Given the description of an element on the screen output the (x, y) to click on. 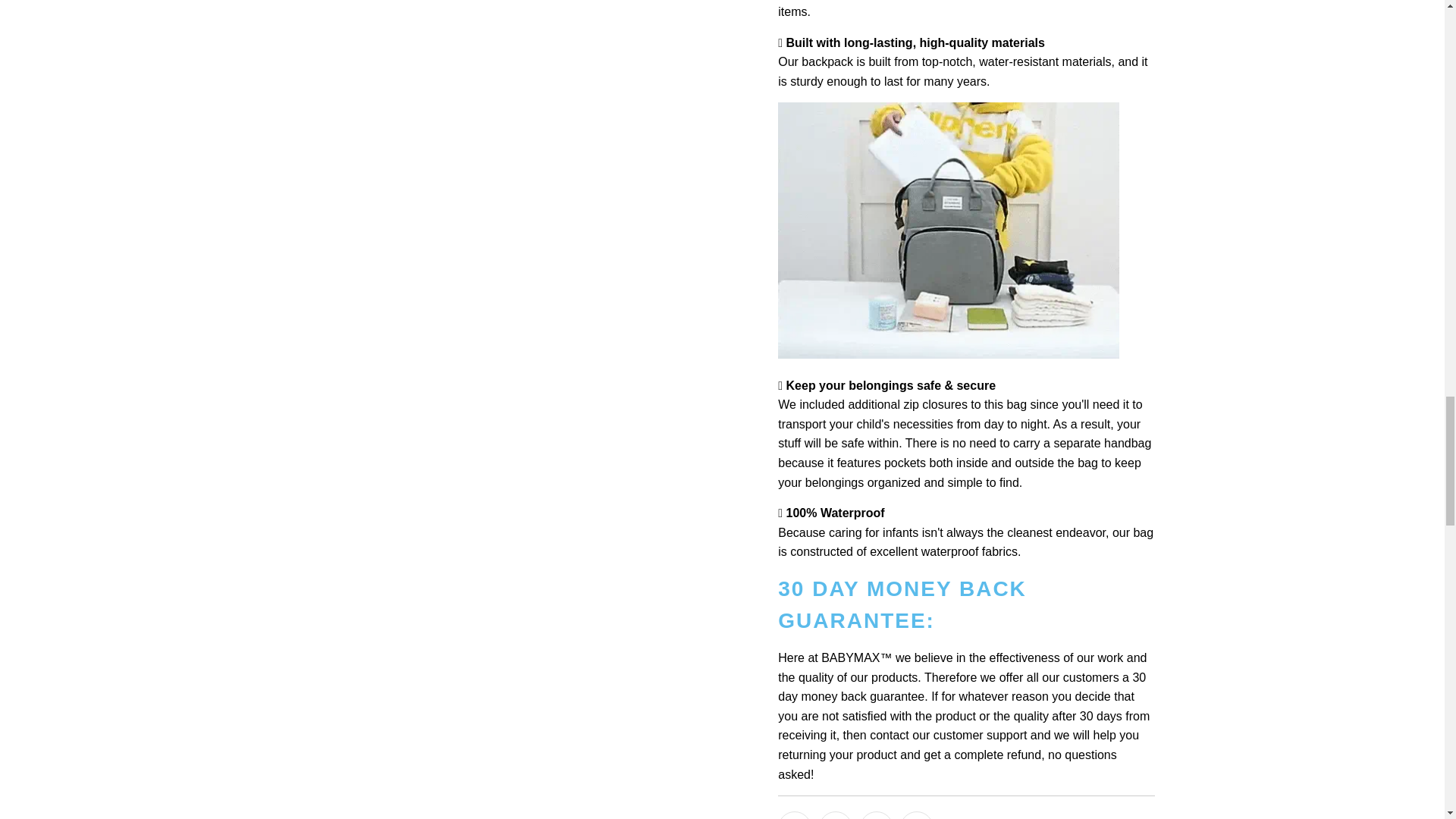
Share this on Facebook (834, 815)
Email this to a friend (916, 815)
Share this on Twitter (793, 815)
Share this on Pinterest (876, 815)
